Given the description of an element on the screen output the (x, y) to click on. 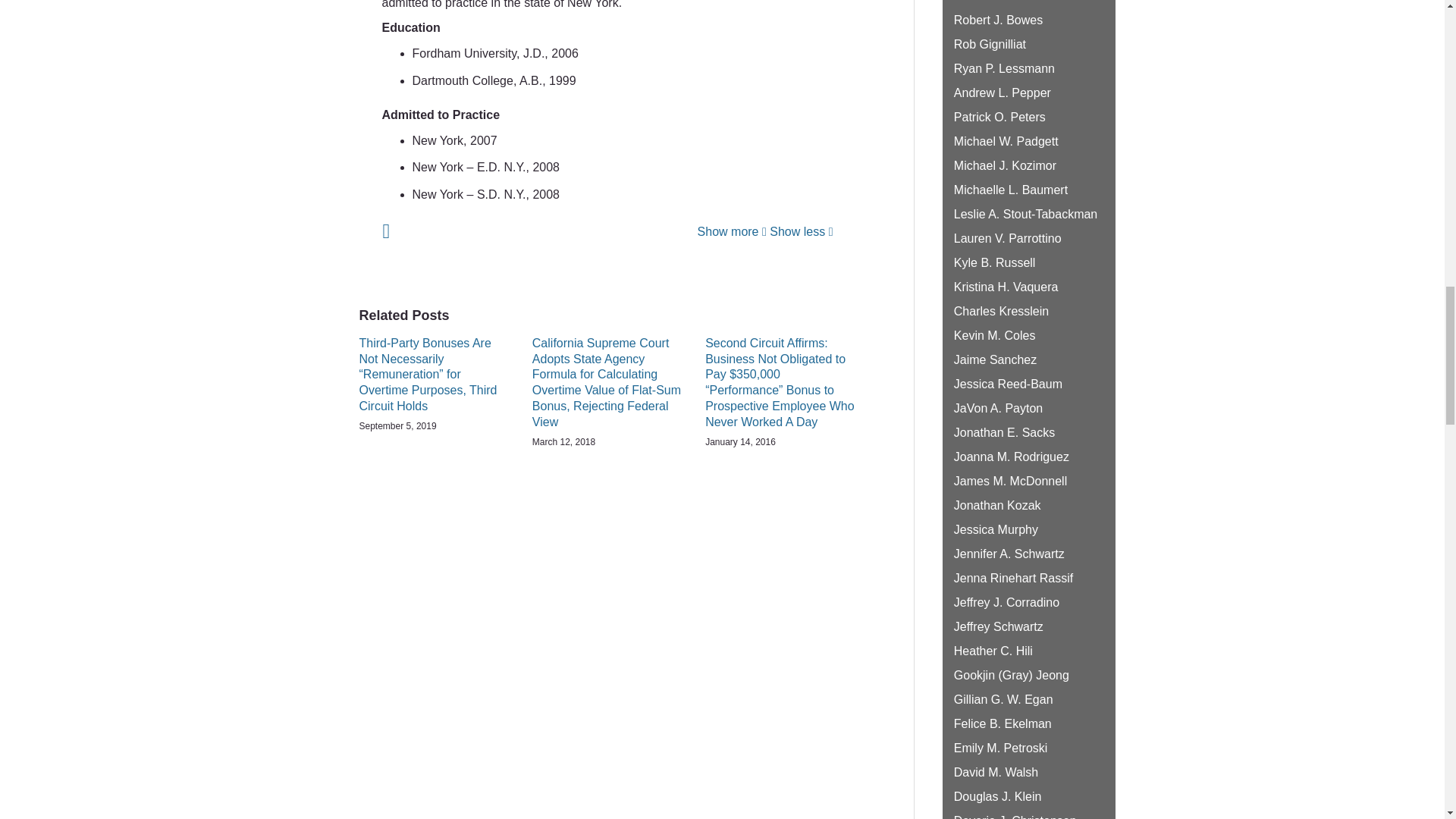
Show more (732, 231)
Show less (801, 231)
